Given the description of an element on the screen output the (x, y) to click on. 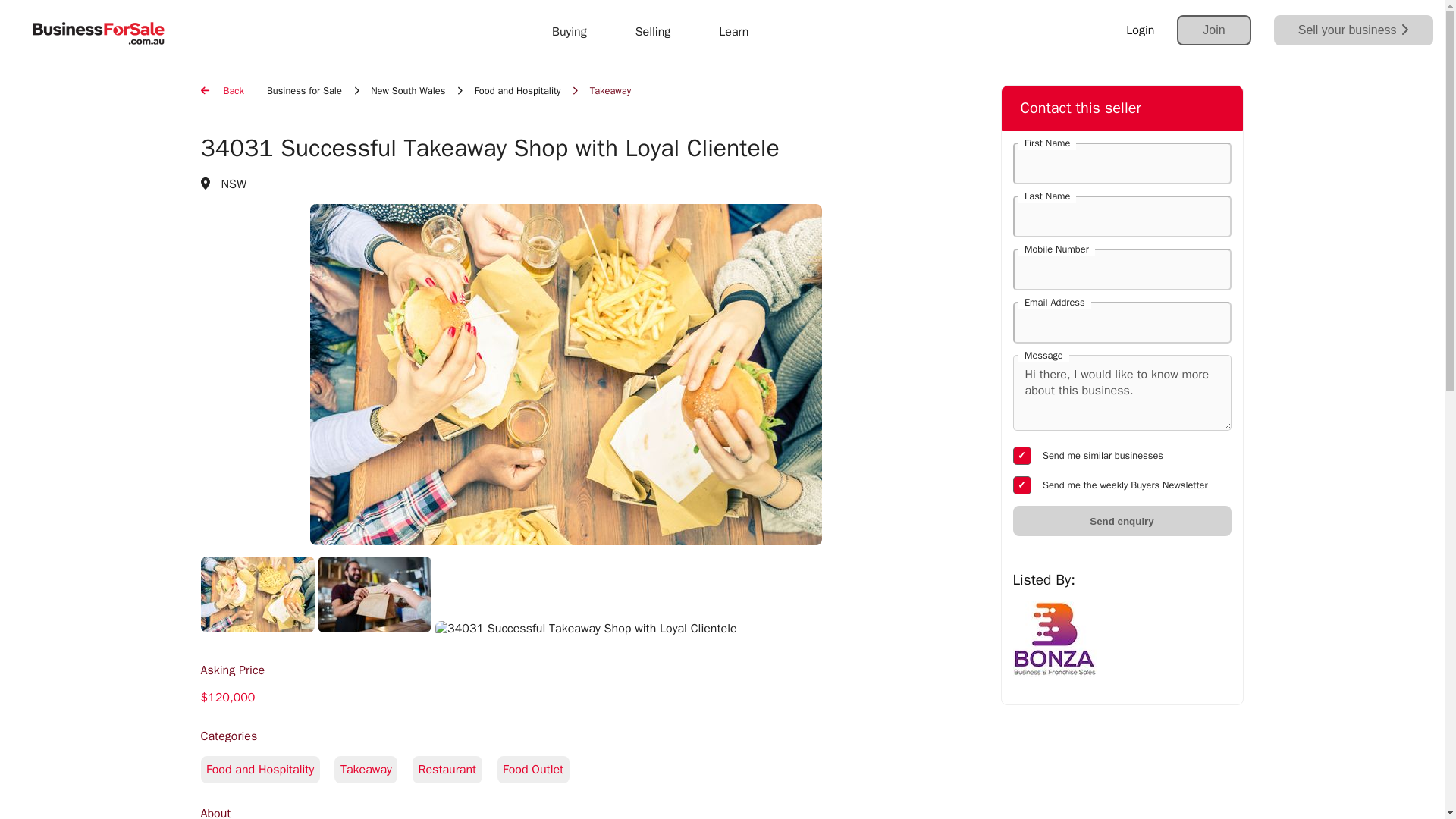
Restaurant (454, 768)
Takeaway (373, 768)
New South Wales (408, 91)
Food and Hospitality (517, 91)
Login (1139, 30)
Business for Sale (304, 91)
Food and Hospitality (565, 785)
Send enquiry (1122, 521)
Back (221, 91)
Join (1213, 30)
